Given the description of an element on the screen output the (x, y) to click on. 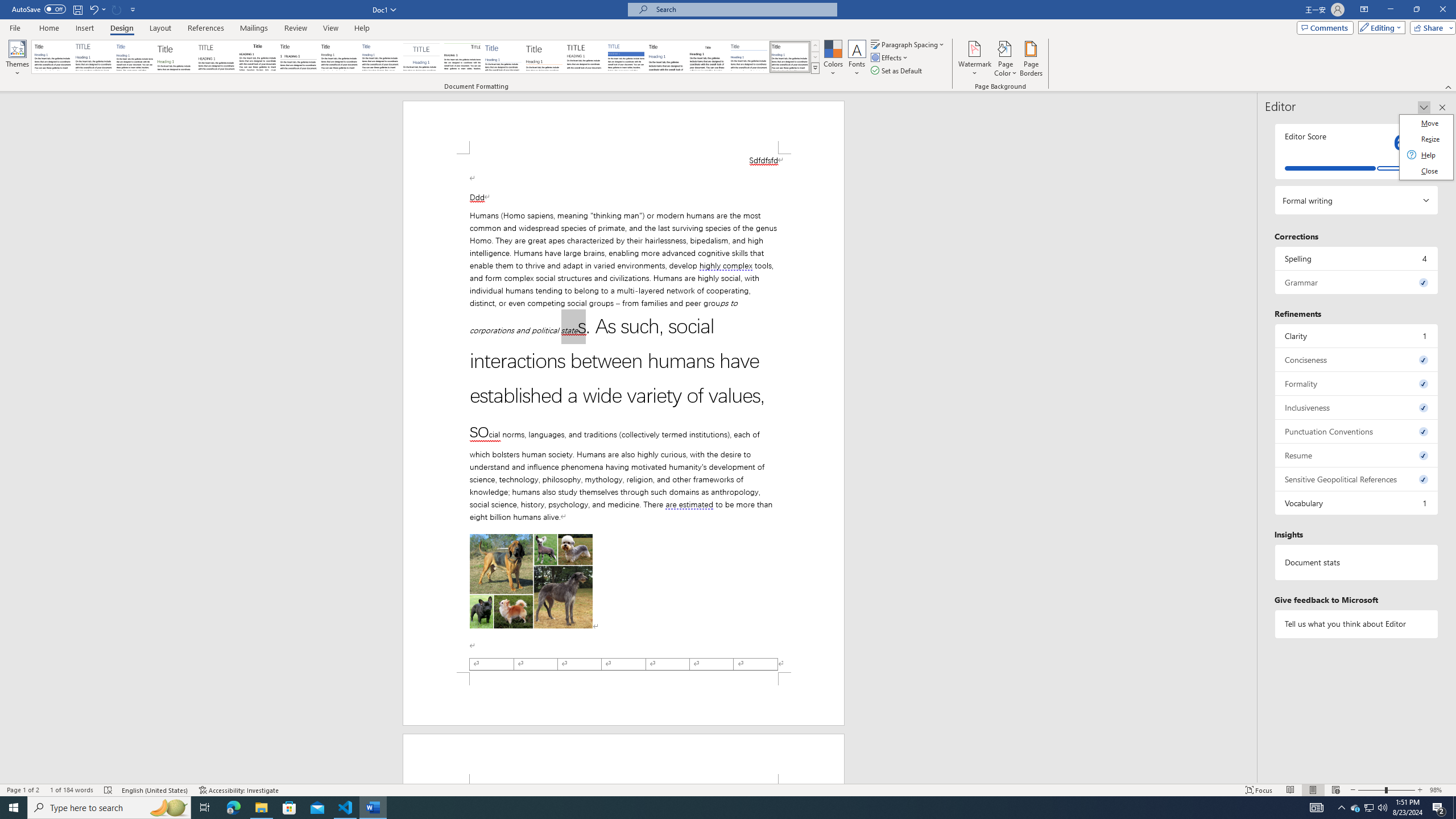
Word (666, 56)
Page 1 content (623, 412)
Centered (421, 56)
Resume, 0 issues. Press space or enter to review items. (1356, 454)
Spelling, 4 issues. Press space or enter to review items. (1356, 258)
Vocabulary, 1 issue. Press space or enter to review items. (1356, 502)
Word 2010 (749, 56)
